Given the description of an element on the screen output the (x, y) to click on. 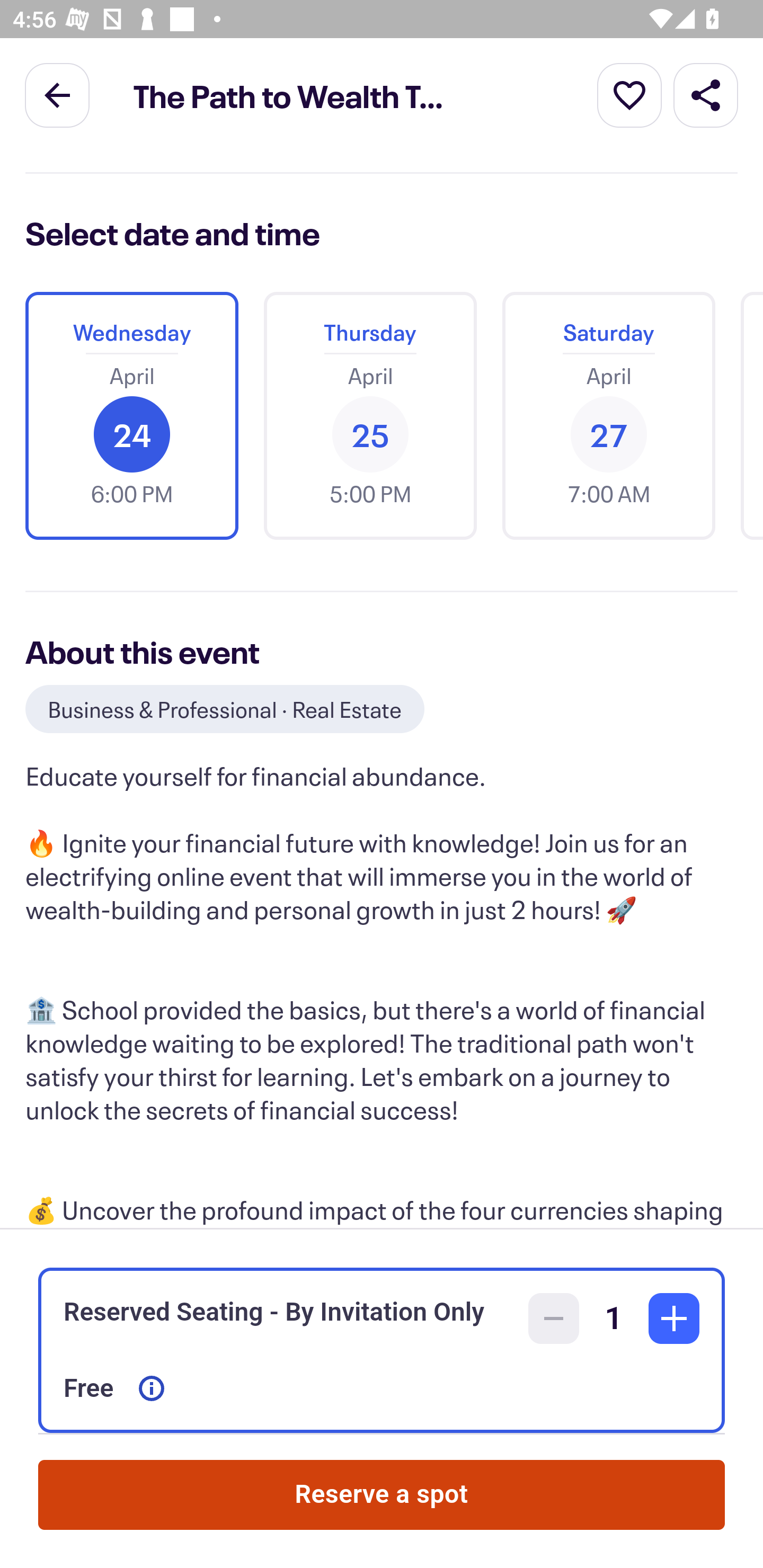
Back (57, 94)
More (629, 94)
Share (705, 94)
Wednesday April 24 6:00 PM (131, 415)
Thursday April 25 5:00 PM (370, 415)
Saturday April 27 7:00 AM (608, 415)
Decrease (553, 1318)
Increase (673, 1318)
Show more information (151, 1388)
Reserve a spot (381, 1494)
